Given the description of an element on the screen output the (x, y) to click on. 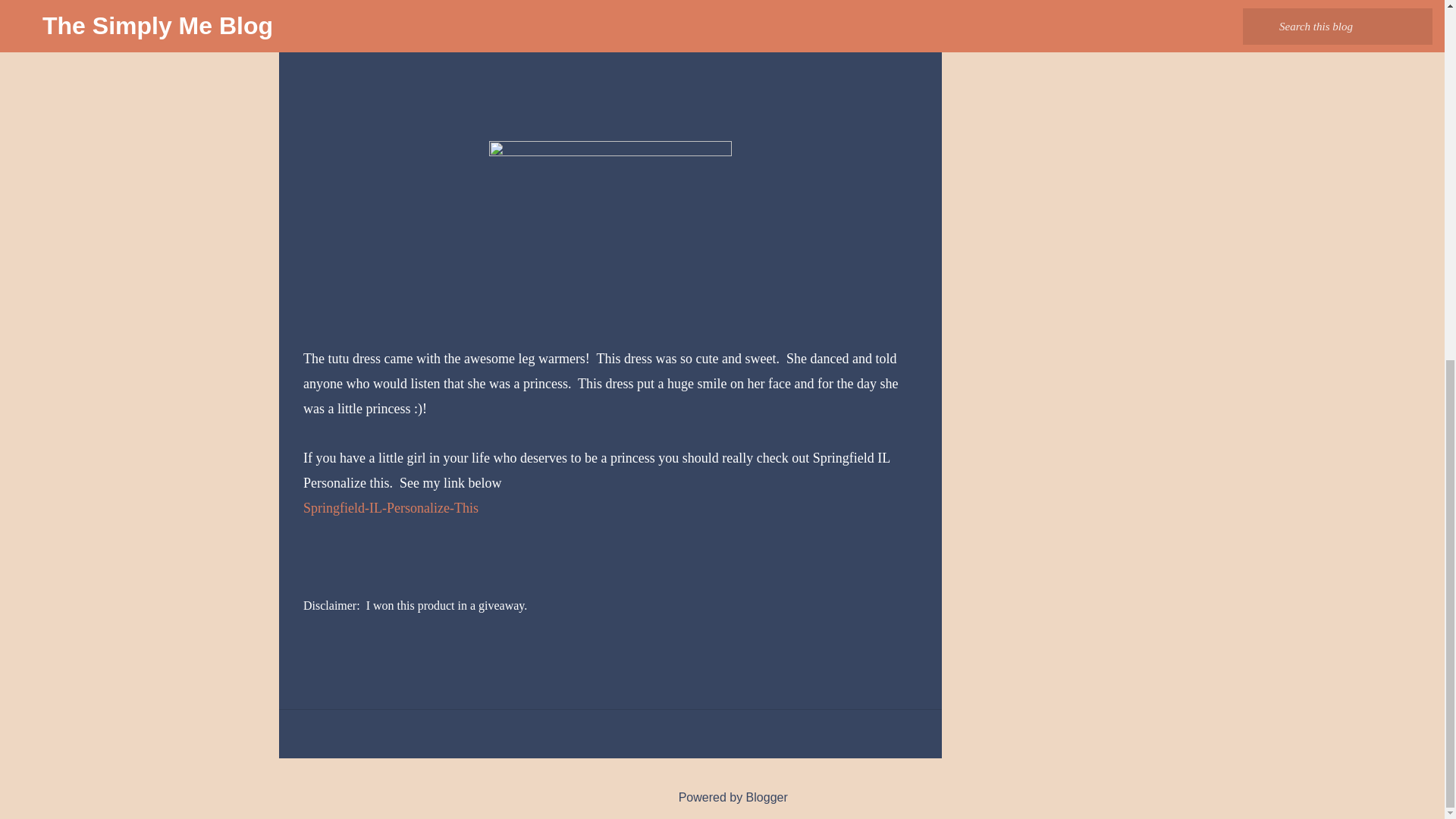
Powered by Blogger (721, 797)
Springfield-IL-Personalize-This (390, 507)
